Given the description of an element on the screen output the (x, y) to click on. 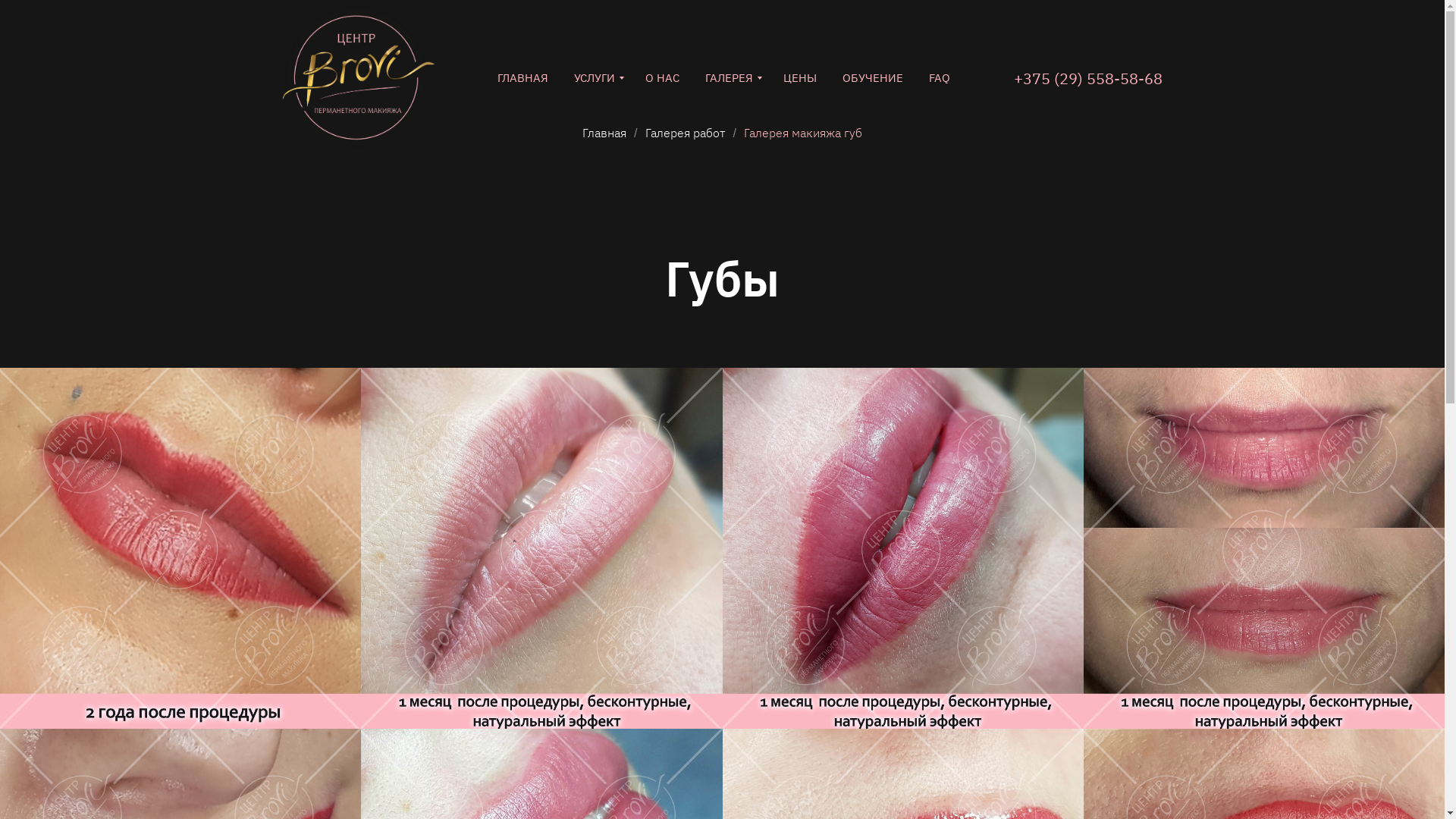
FAQ Element type: text (939, 77)
